Given the description of an element on the screen output the (x, y) to click on. 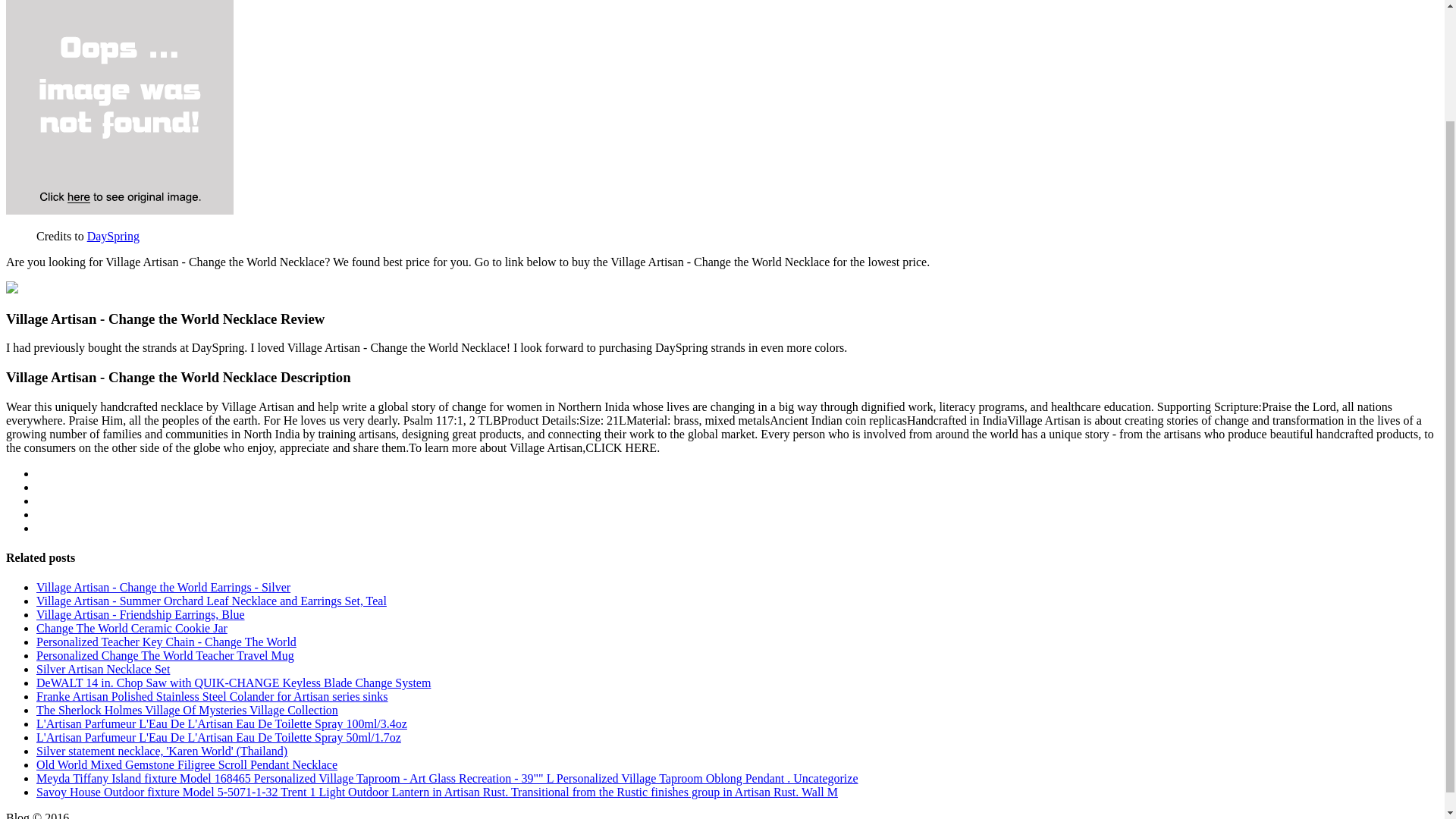
Village Artisan - Change the World Earrings - Silver (162, 586)
The Sherlock Holmes Village Of Mysteries Village Collection (186, 709)
Personalized Change The World Teacher Travel Mug (165, 655)
Old World Mixed Gemstone Filigree Scroll Pendant Necklace (186, 764)
Silver Artisan Necklace Set (103, 668)
DaySpring (113, 236)
Village Artisan - Friendship Earrings, Blue (140, 614)
Personalized Teacher Key Chain - Change The World (166, 641)
Silver Artisan Necklace Set (103, 668)
The Sherlock Holmes Village Of Mysteries Village Collection (186, 709)
Village Artisan - Change the World Earrings - Silver (162, 586)
